Given the description of an element on the screen output the (x, y) to click on. 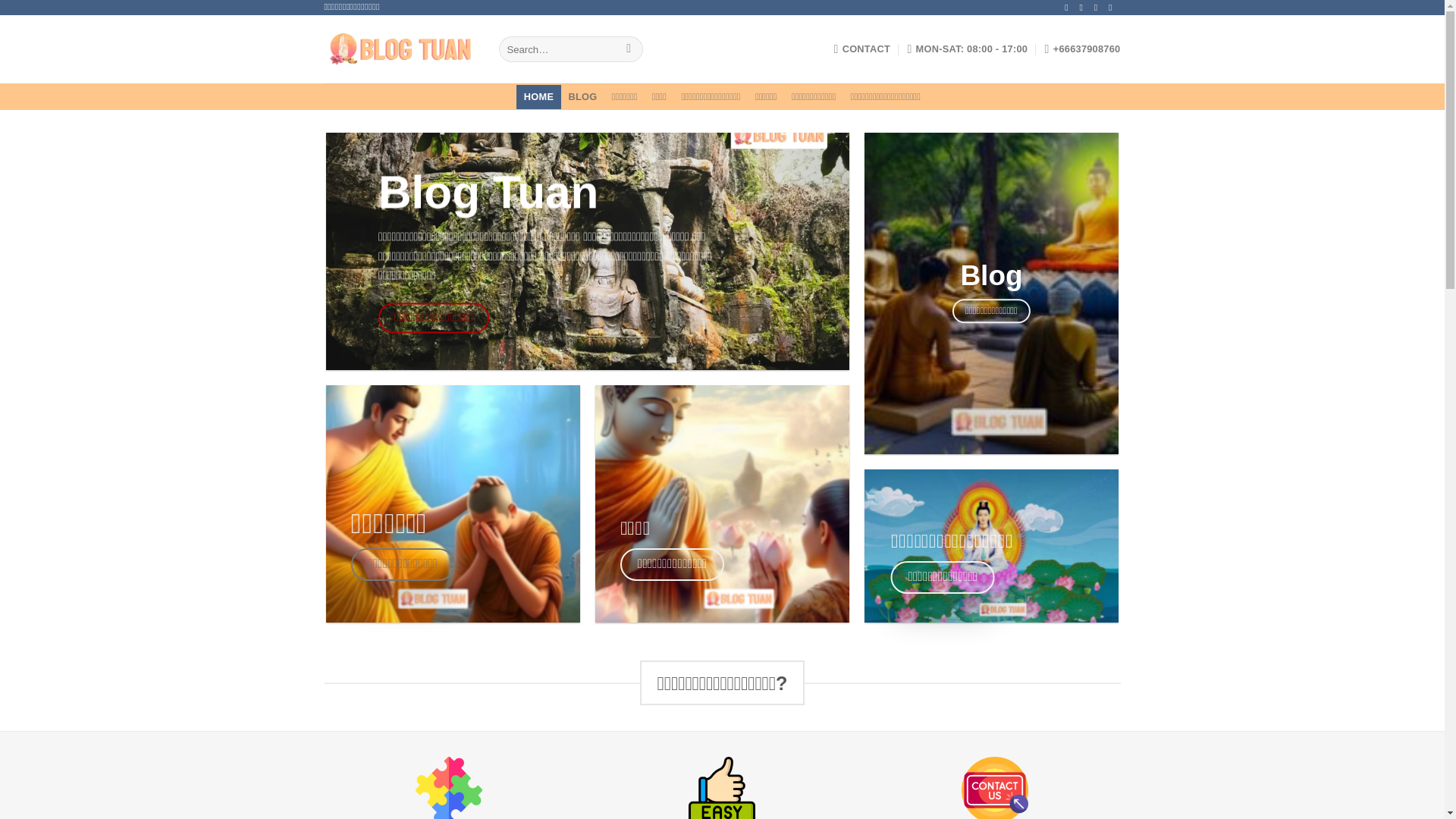
HOME (538, 96)
CONTACT (862, 49)
MON-SAT: 08:00 - 17:00 (967, 49)
BLOG (582, 96)
Mon-Sat: 08:00 - 17:00  (967, 49)
